Given the description of an element on the screen output the (x, y) to click on. 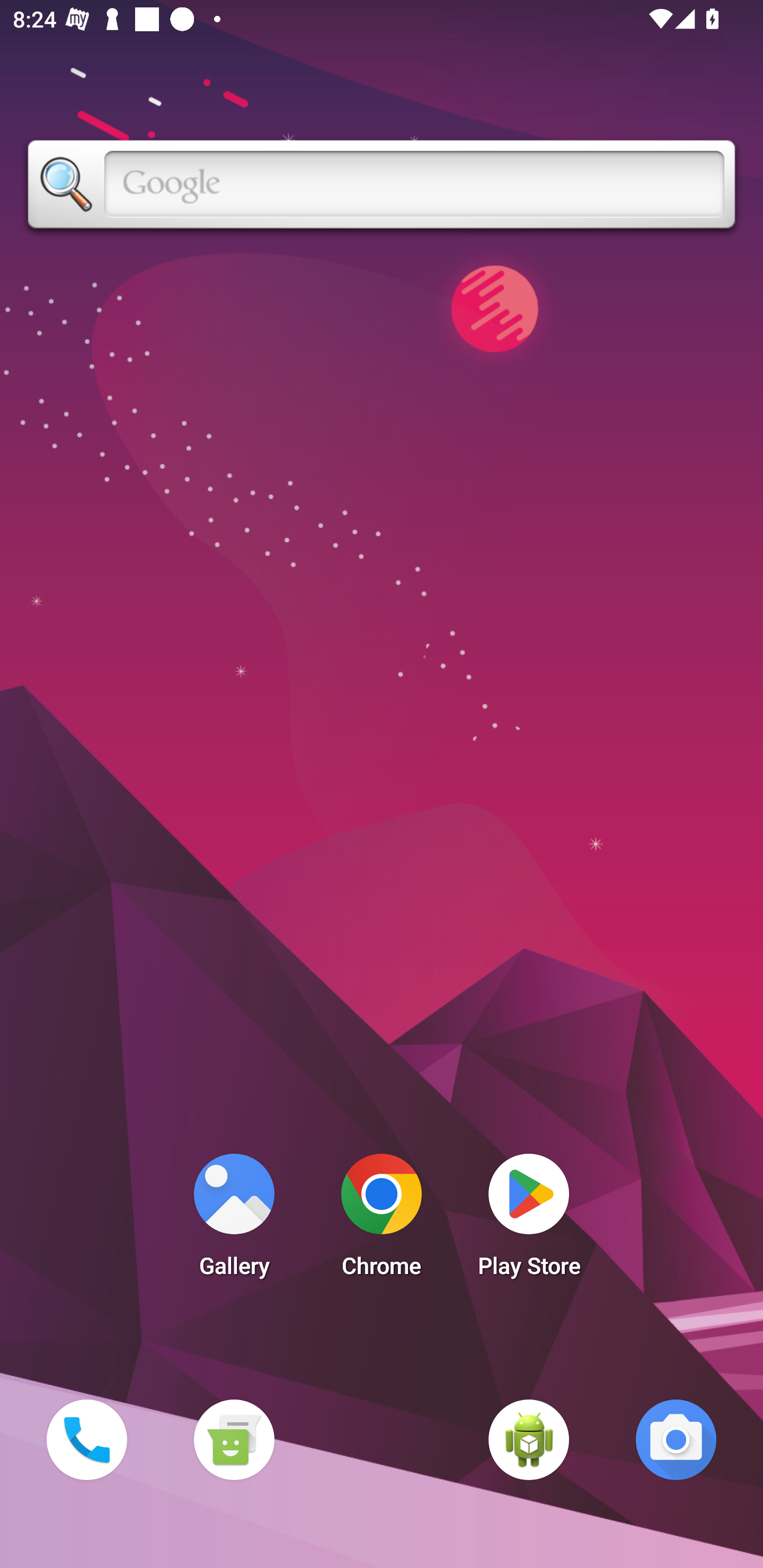
Gallery (233, 1220)
Chrome (381, 1220)
Play Store (528, 1220)
Phone (86, 1439)
Messaging (233, 1439)
WebView Browser Tester (528, 1439)
Camera (676, 1439)
